Given the description of an element on the screen output the (x, y) to click on. 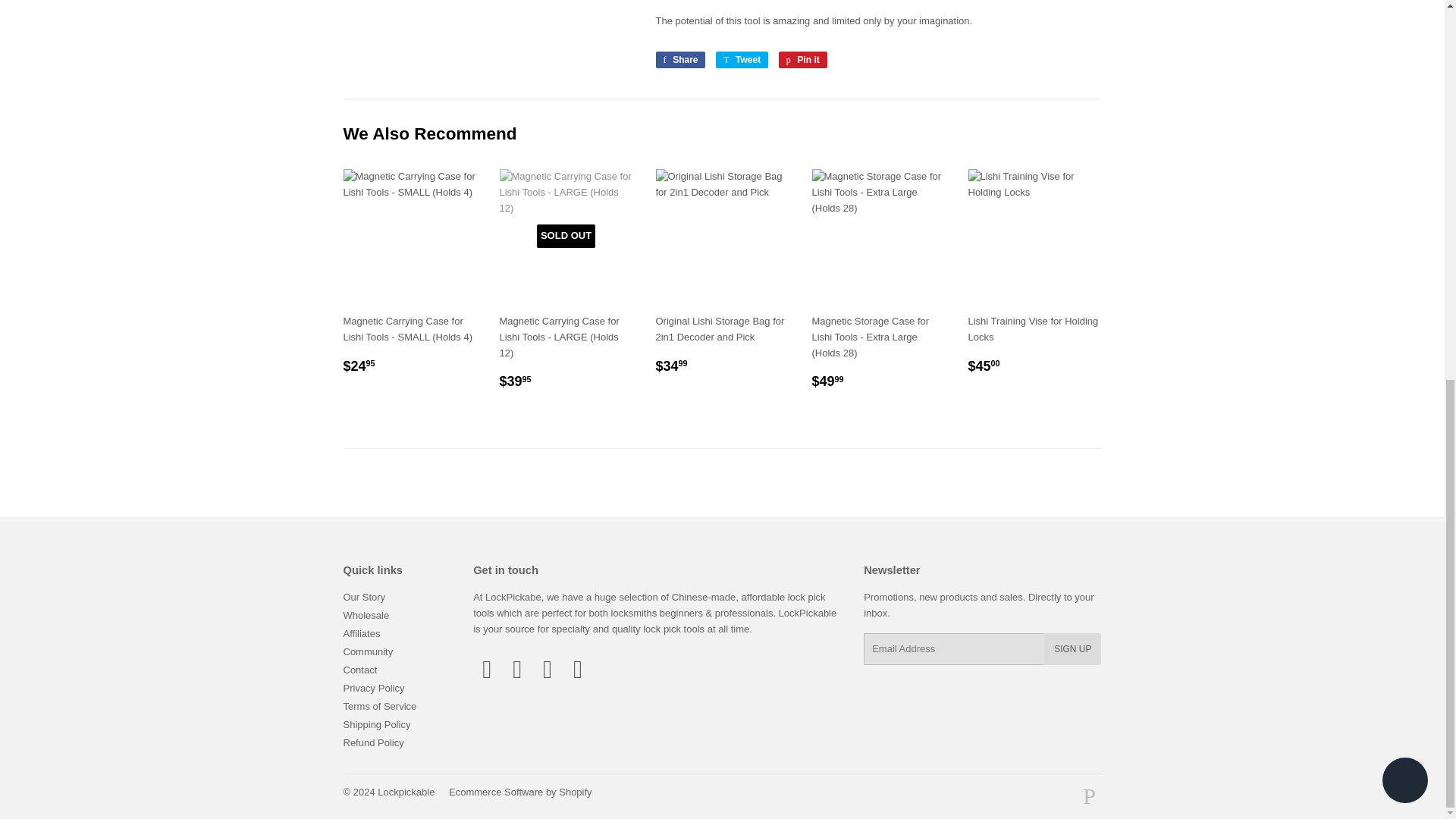
Pin on Pinterest (802, 59)
Shopify online store chat (1404, 77)
Share on Facebook (679, 59)
Tweet on Twitter (742, 59)
